Given the description of an element on the screen output the (x, y) to click on. 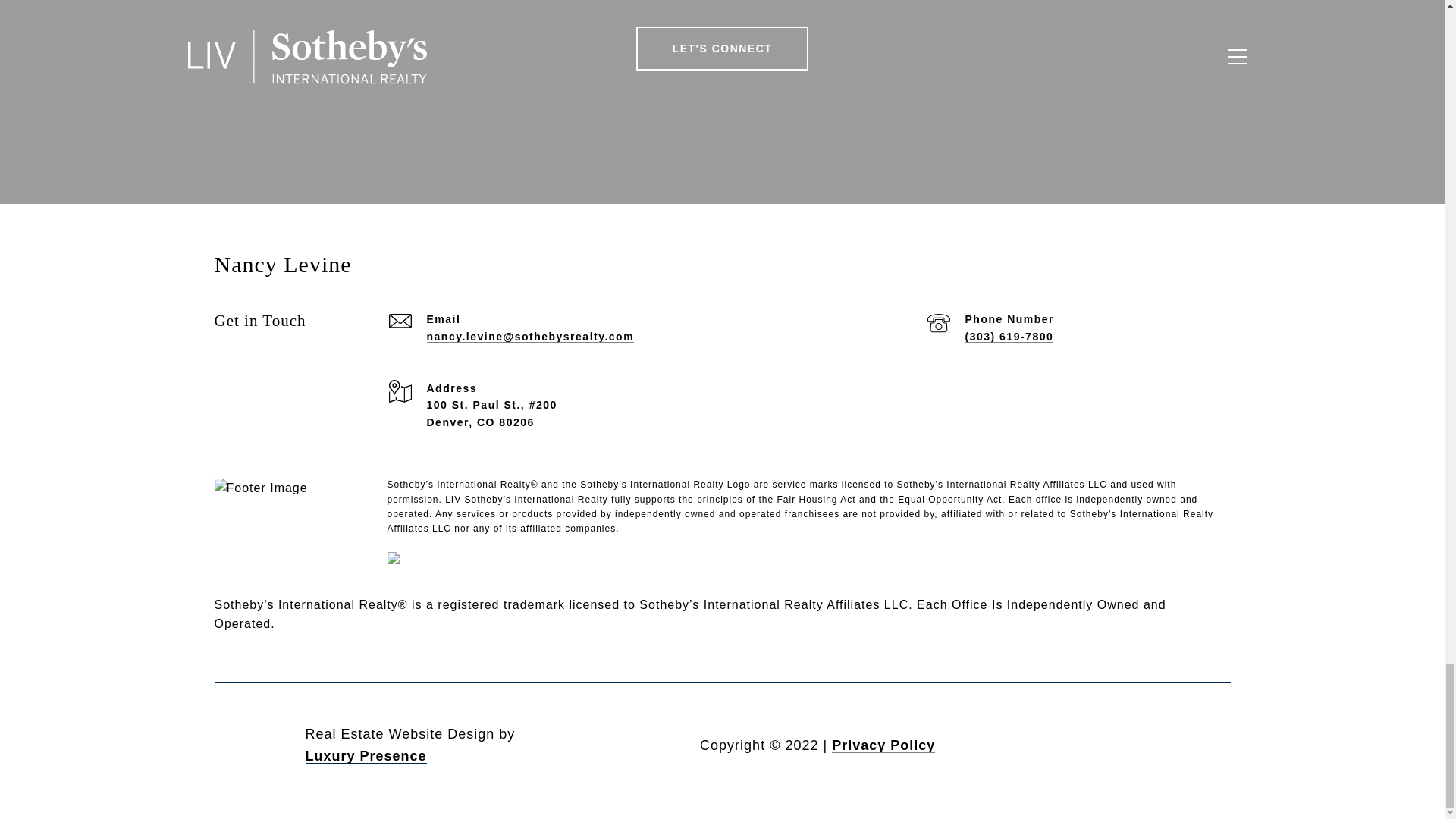
LET'S CONNECT (722, 48)
Luxury Presence (365, 755)
Privacy Policy (882, 744)
